Given the description of an element on the screen output the (x, y) to click on. 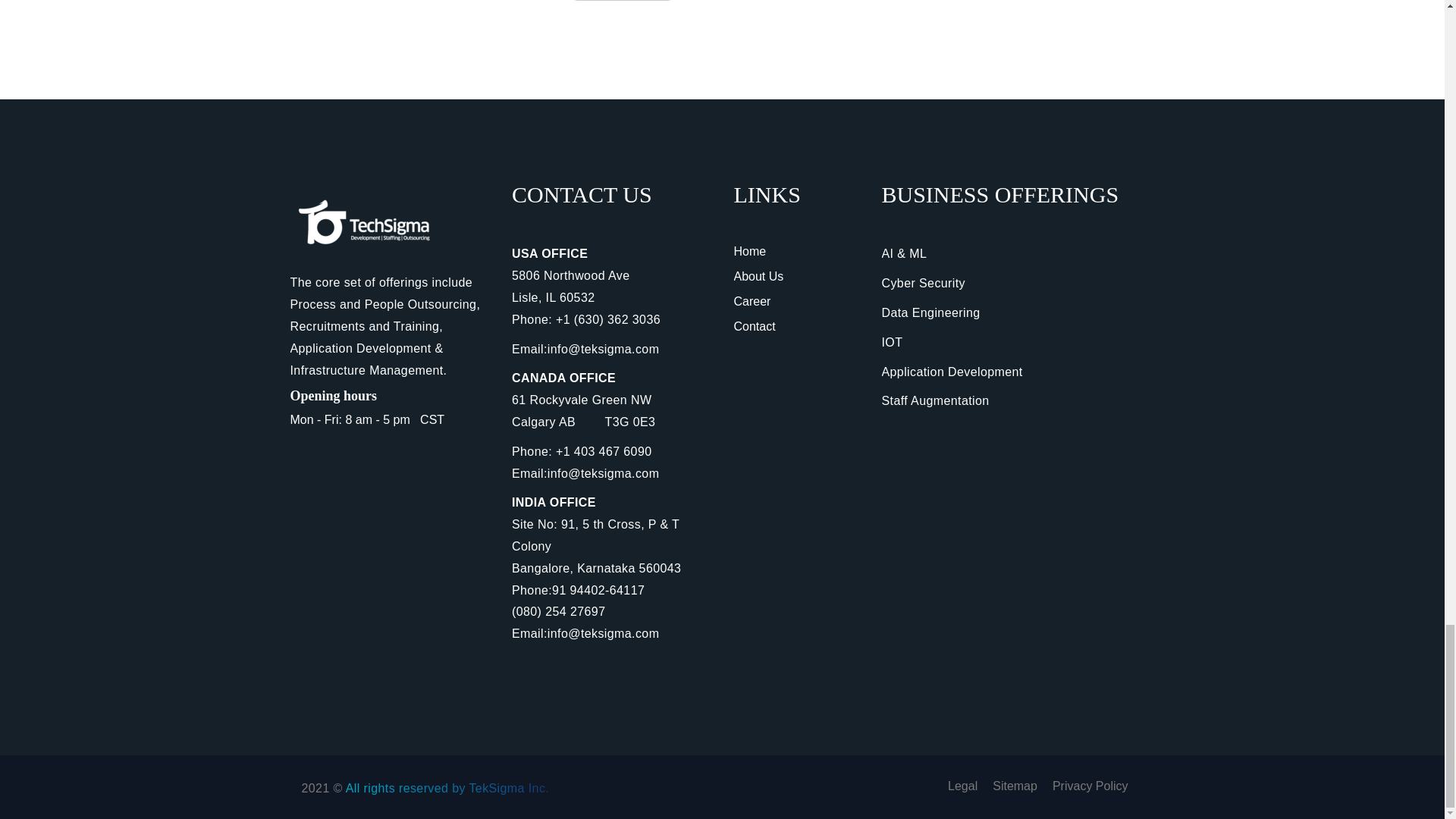
Application Development (951, 371)
Legal (961, 785)
Submit (622, 0)
IOT (891, 341)
Data Engineering (929, 312)
About Us (758, 276)
Contact (754, 326)
Privacy Policy (1090, 785)
Cyber Security (922, 282)
All rights reserved by TekSigma Inc. (447, 788)
Sitemap (1014, 785)
Submit (622, 0)
Home (750, 250)
Staff Augmentation (934, 400)
Career (752, 300)
